Given the description of an element on the screen output the (x, y) to click on. 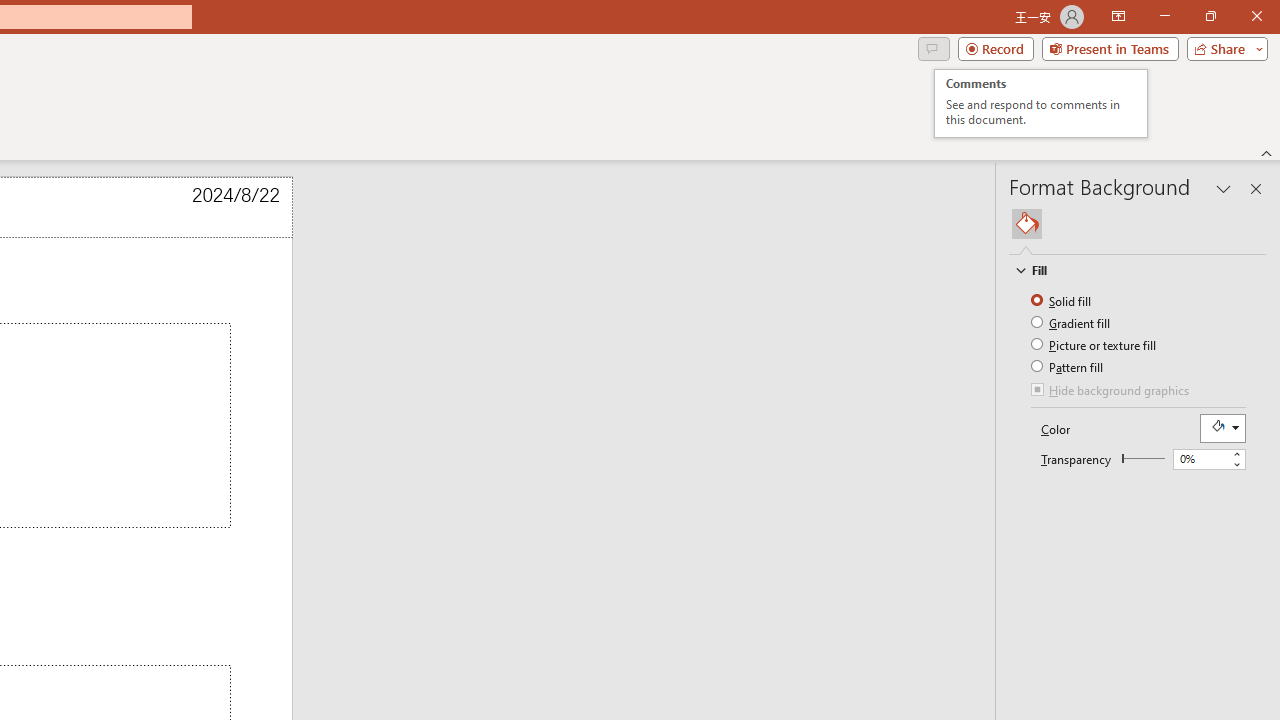
Page right (1146, 458)
Solid fill (1041, 103)
Transparency (1062, 300)
Gradient fill (1200, 459)
Fill Color RGB(255, 255, 255) (1071, 322)
Transparency (1222, 427)
